Given the description of an element on the screen output the (x, y) to click on. 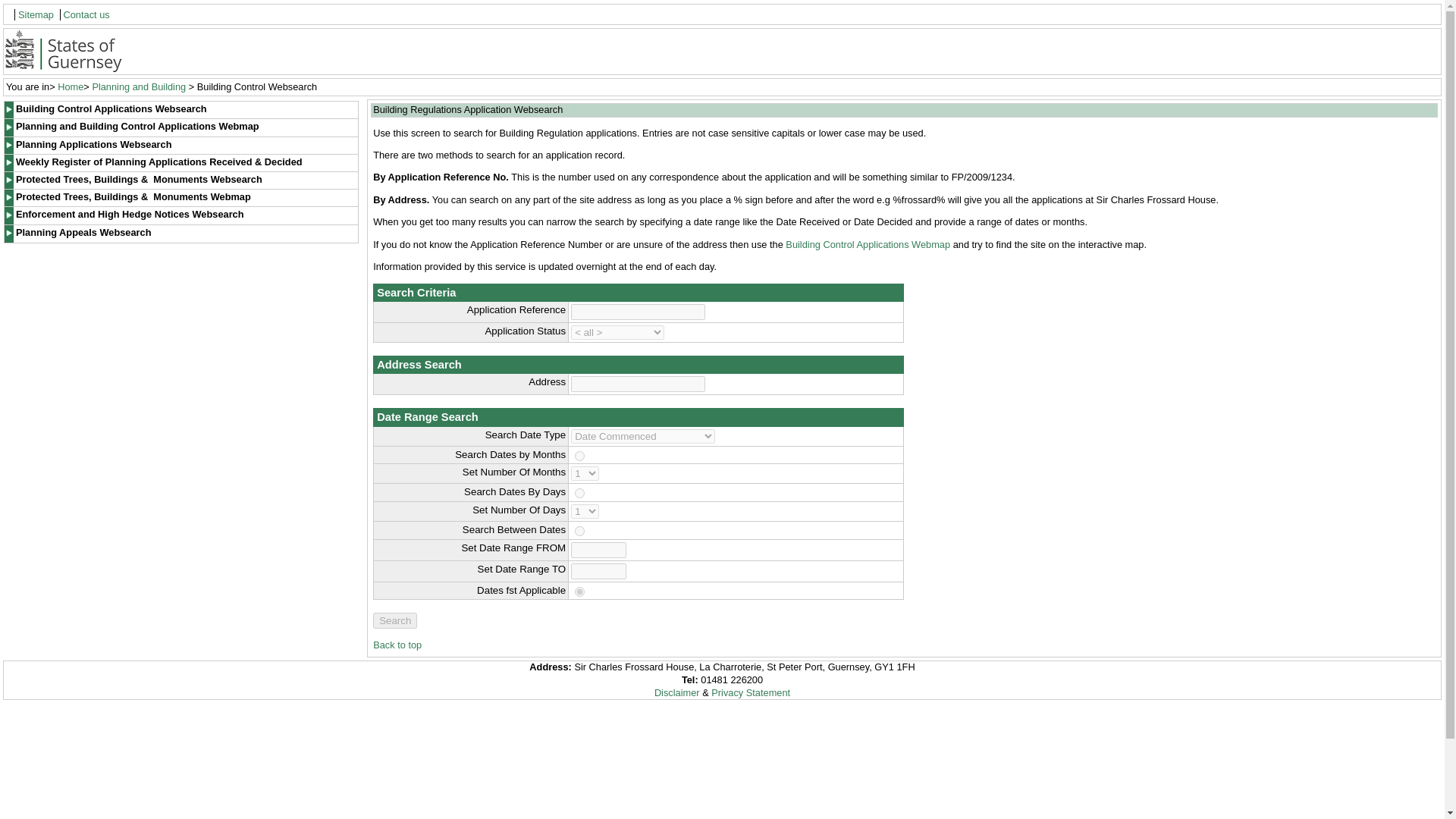
Planning and Building (138, 86)
Privacy Statement (750, 692)
rbRange (580, 531)
rbDay (580, 492)
Enforcement and High Hedge Notices Websearch (181, 215)
Search (394, 620)
rbNotApplicable (580, 592)
Building Control Applications Webmap (868, 244)
Disclaimer (676, 692)
Sitemap (35, 14)
Planning Appeals Websearch (181, 233)
Contact us (87, 14)
Back to top (397, 644)
Planning Applications Websearch (181, 145)
Search (394, 620)
